Given the description of an element on the screen output the (x, y) to click on. 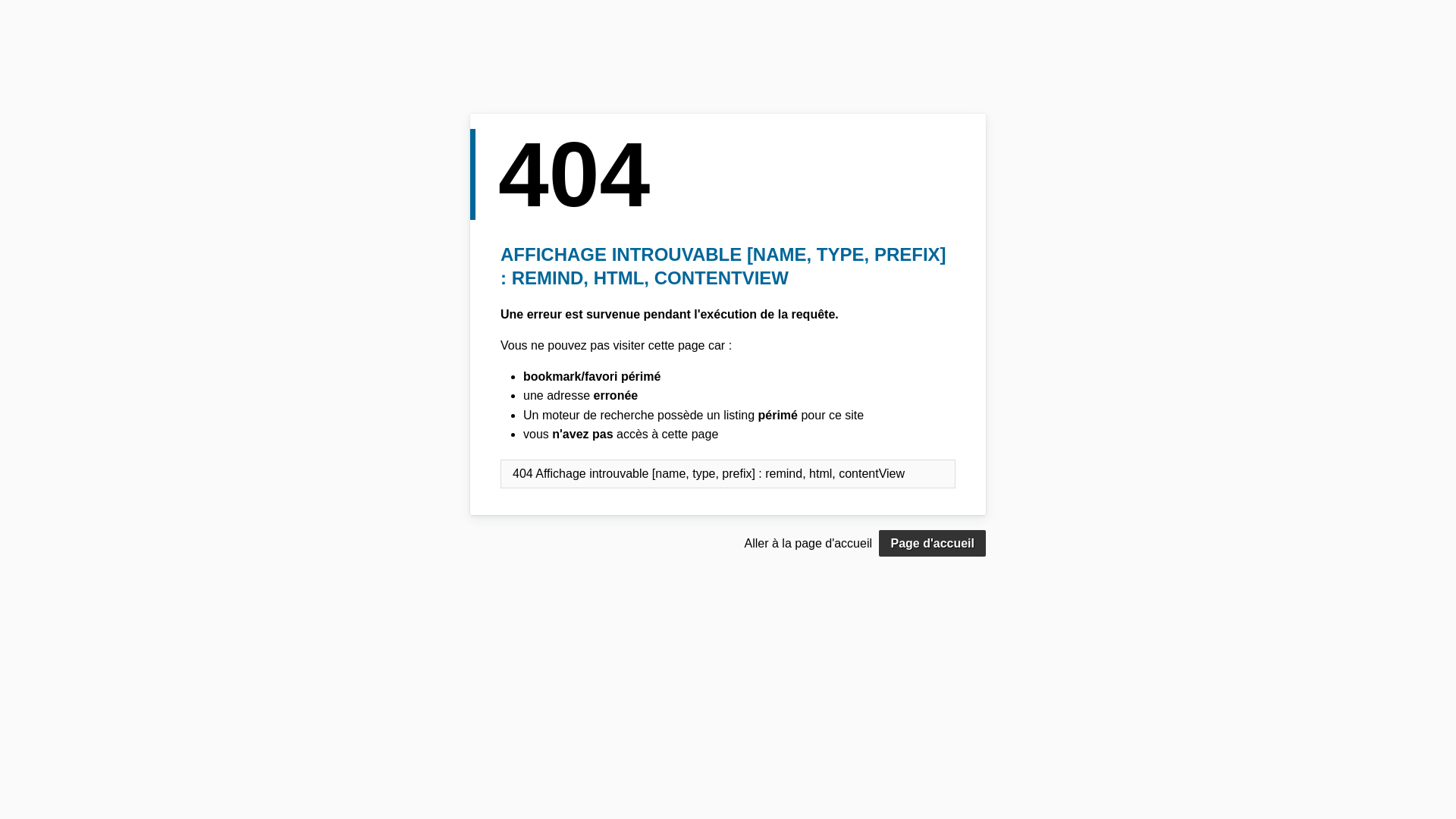
Page d'accueil Element type: text (931, 543)
